Given the description of an element on the screen output the (x, y) to click on. 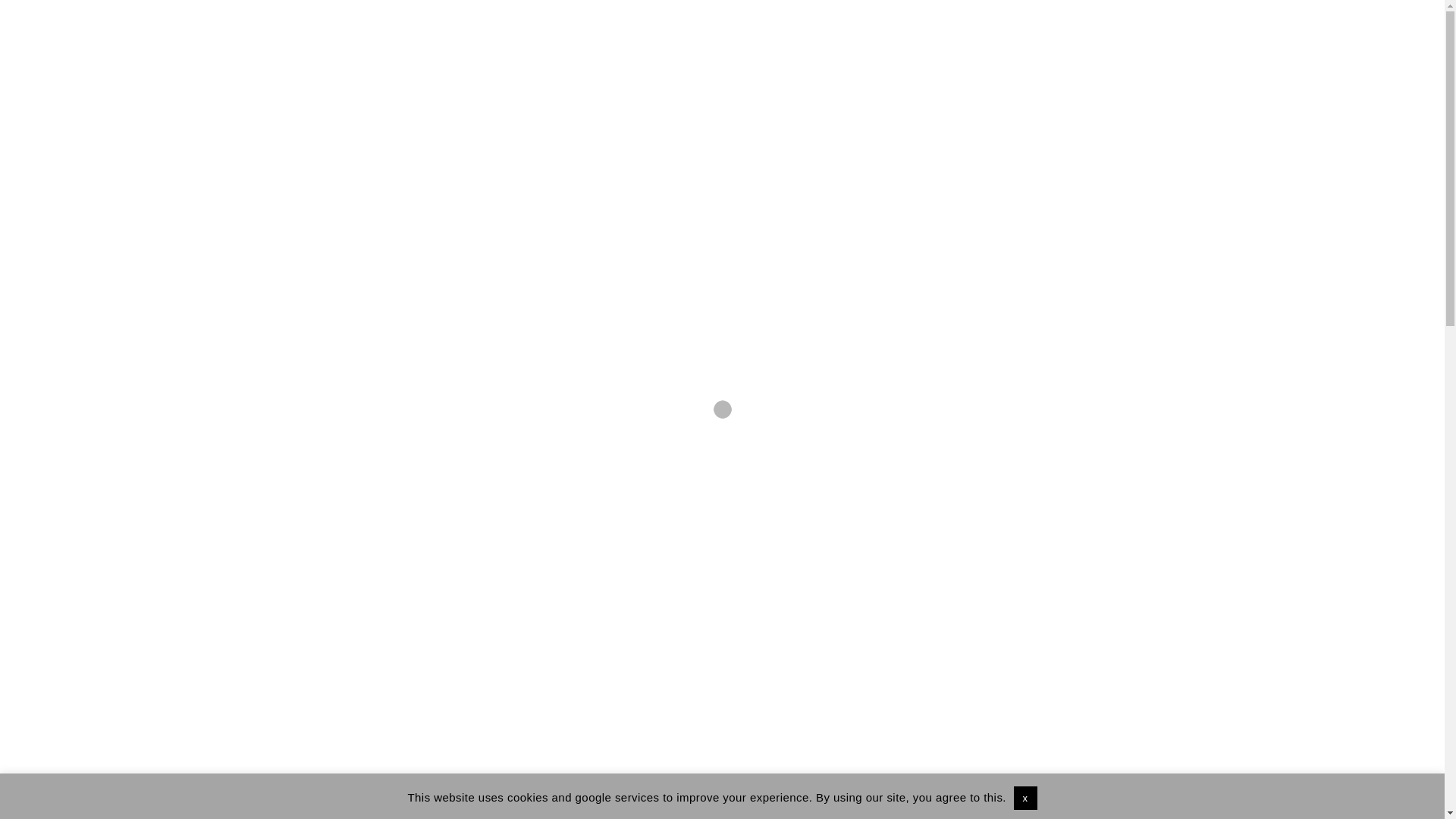
GAMING (414, 345)
www.armat.us (772, 814)
x (1024, 797)
